Given the description of an element on the screen output the (x, y) to click on. 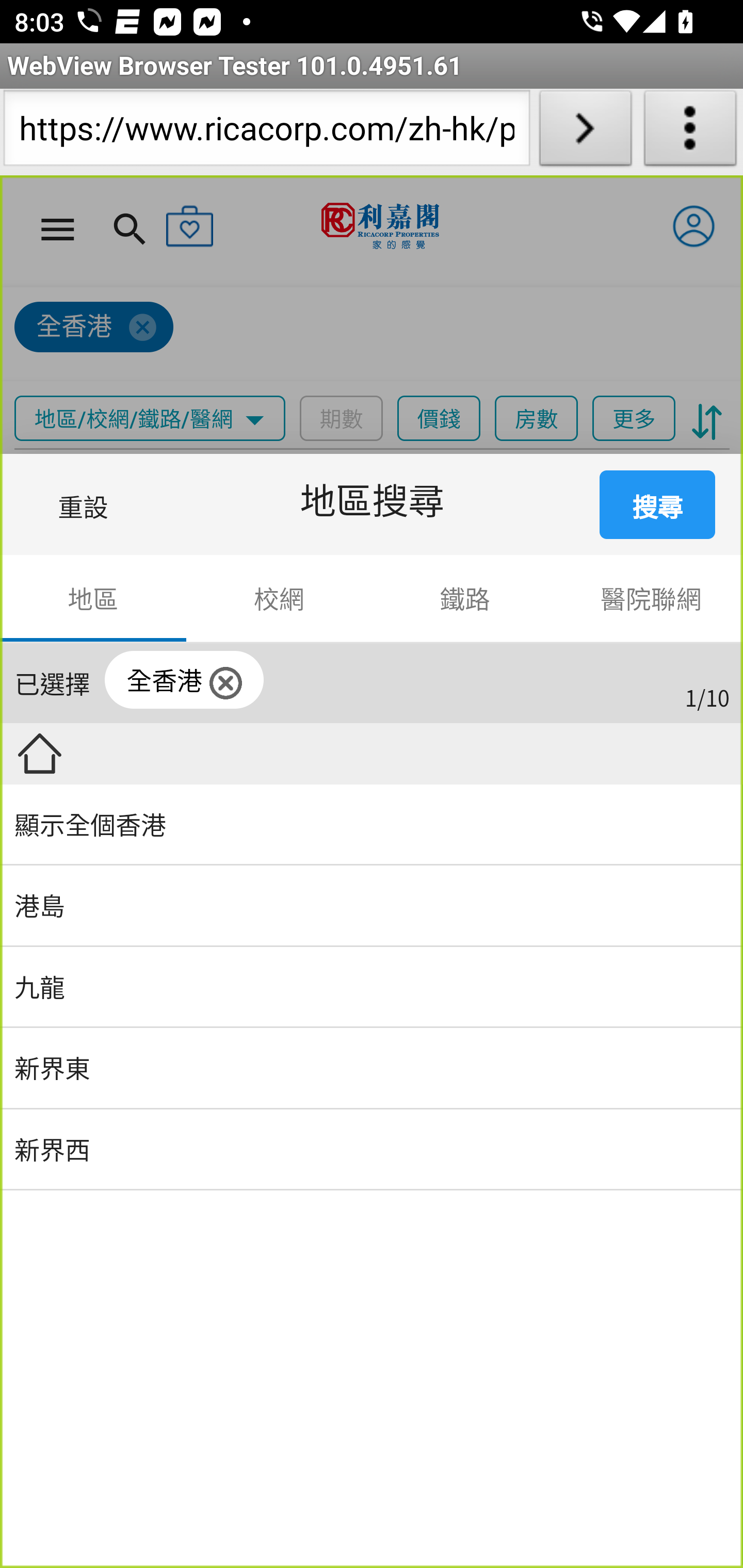
https://www.ricacorp.com/zh-hk/property/list/buy (266, 132)
Load URL (585, 132)
About WebView (690, 132)
重設 (86, 503)
搜尋 (657, 503)
地區 (93, 598)
校網 (278, 598)
鐵路 (465, 598)
醫院聯網 (649, 598)
全香港 cancel (184, 679)
home (39, 753)
顯示全個香港 (371, 825)
港島 (371, 906)
九龍 (371, 986)
新界東 (371, 1068)
新界西 (371, 1149)
